Given the description of an element on the screen output the (x, y) to click on. 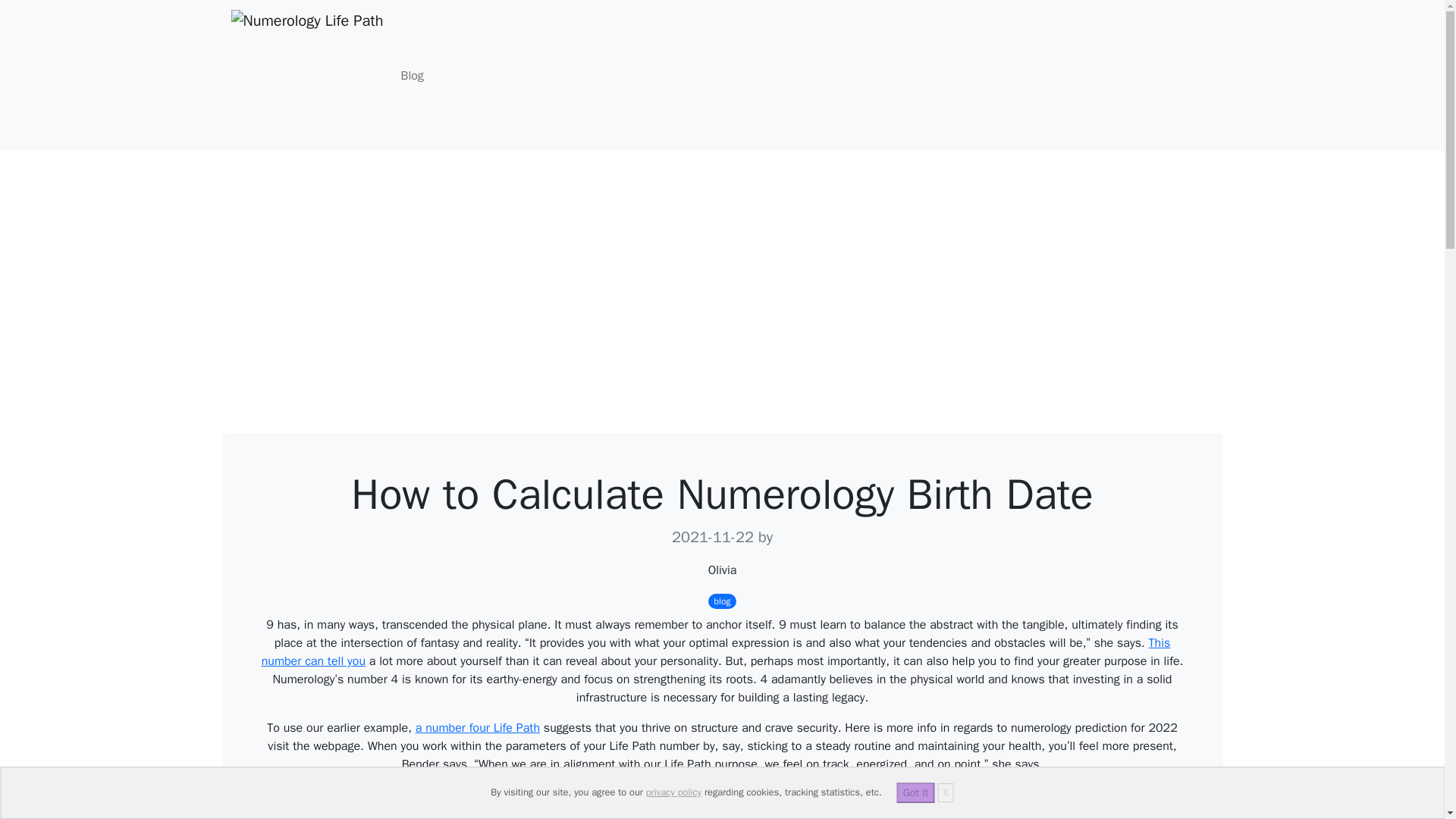
privacy policy (673, 792)
blog (721, 601)
Blog (411, 75)
Got It (915, 792)
a number four Life Path (477, 727)
This number can tell you (716, 652)
